Given the description of an element on the screen output the (x, y) to click on. 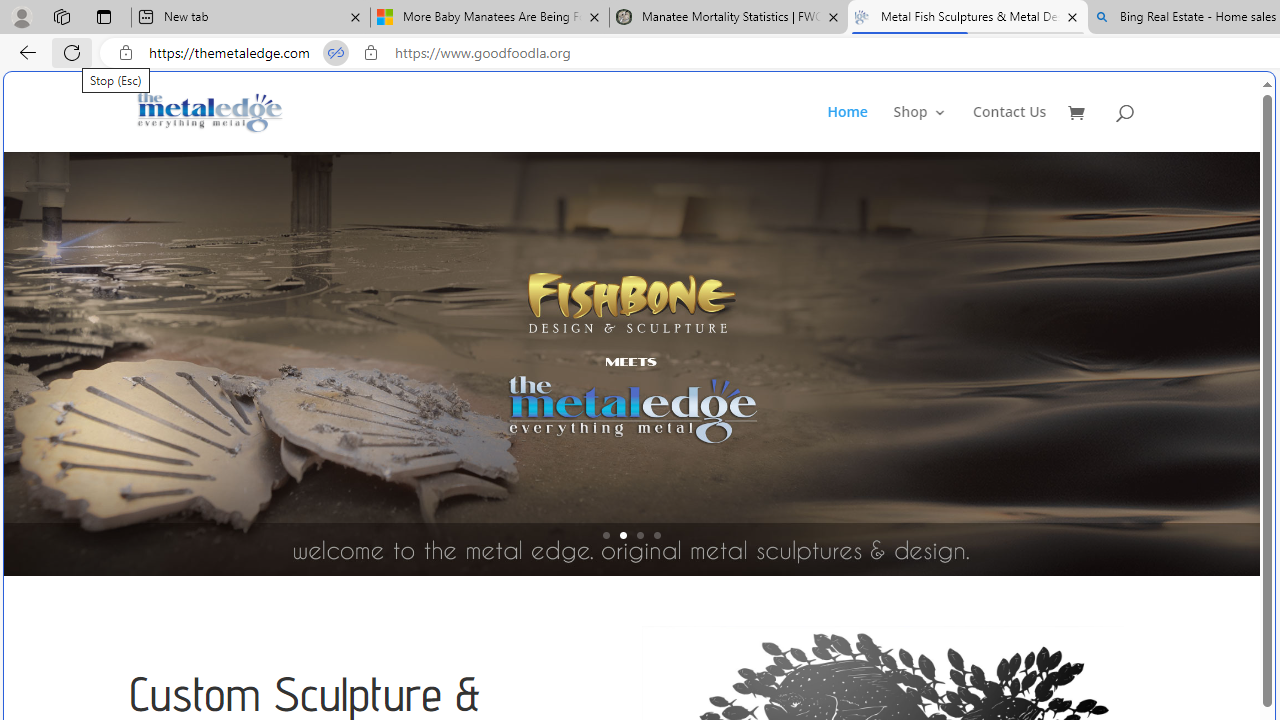
1 (606, 535)
4 (657, 535)
Metal Fish Sculptures & Metal Designs (210, 111)
2 (623, 535)
Tabs in split screen (335, 53)
3 (640, 535)
